Given the description of an element on the screen output the (x, y) to click on. 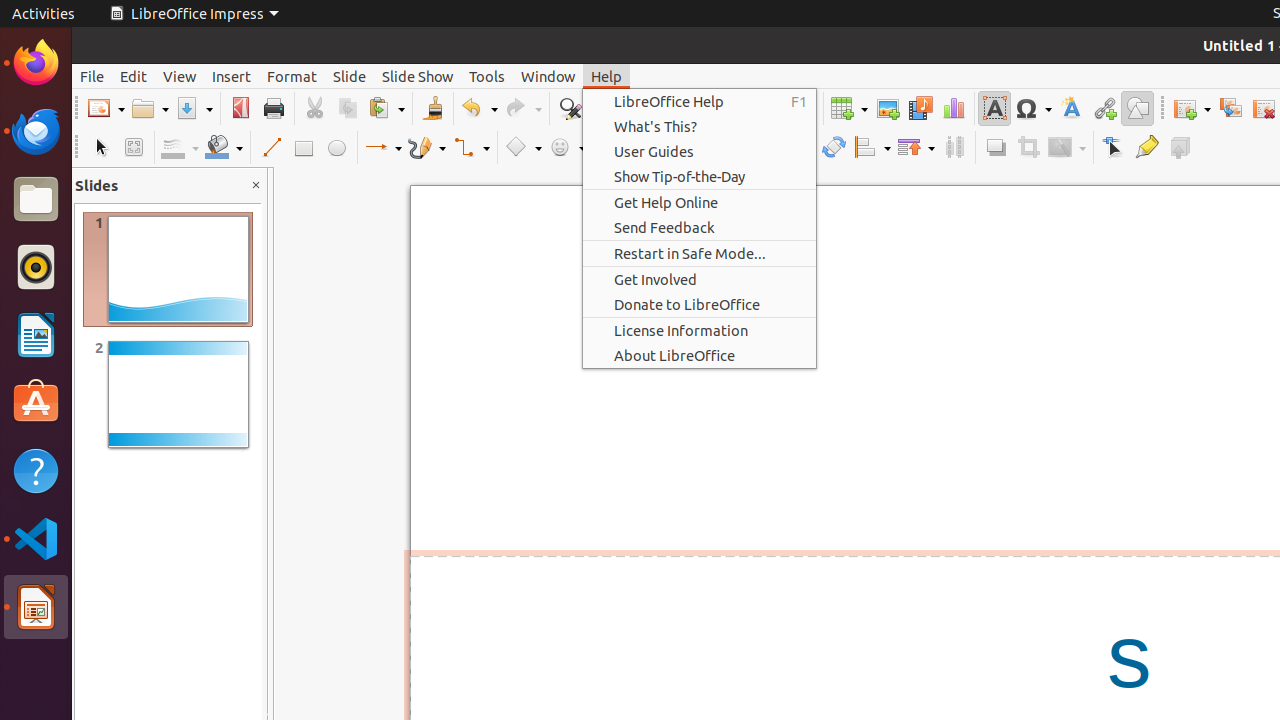
Insert Element type: menu (231, 76)
Edit Element type: menu (133, 76)
Get Help Online Element type: menu-item (699, 202)
Line Element type: push-button (270, 147)
Format Element type: menu (292, 76)
